Given the description of an element on the screen output the (x, y) to click on. 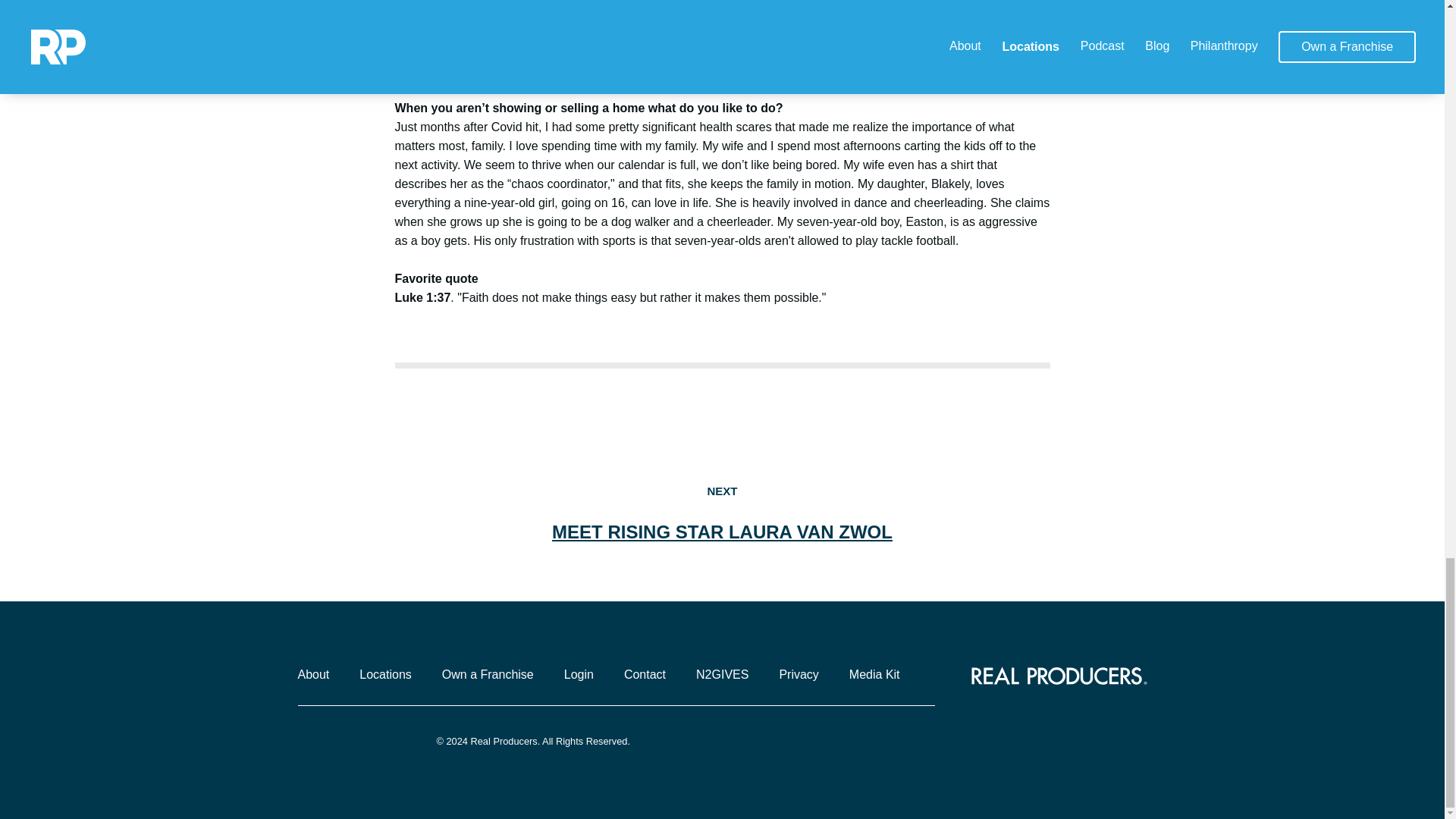
N2GIVES (731, 674)
Privacy (806, 674)
Media Kit (883, 674)
Login (587, 674)
Own a Franchise (496, 674)
Locations (394, 674)
Contact (654, 674)
MEET RISING STAR LAURA VAN ZWOL (721, 531)
About (322, 674)
